Given the description of an element on the screen output the (x, y) to click on. 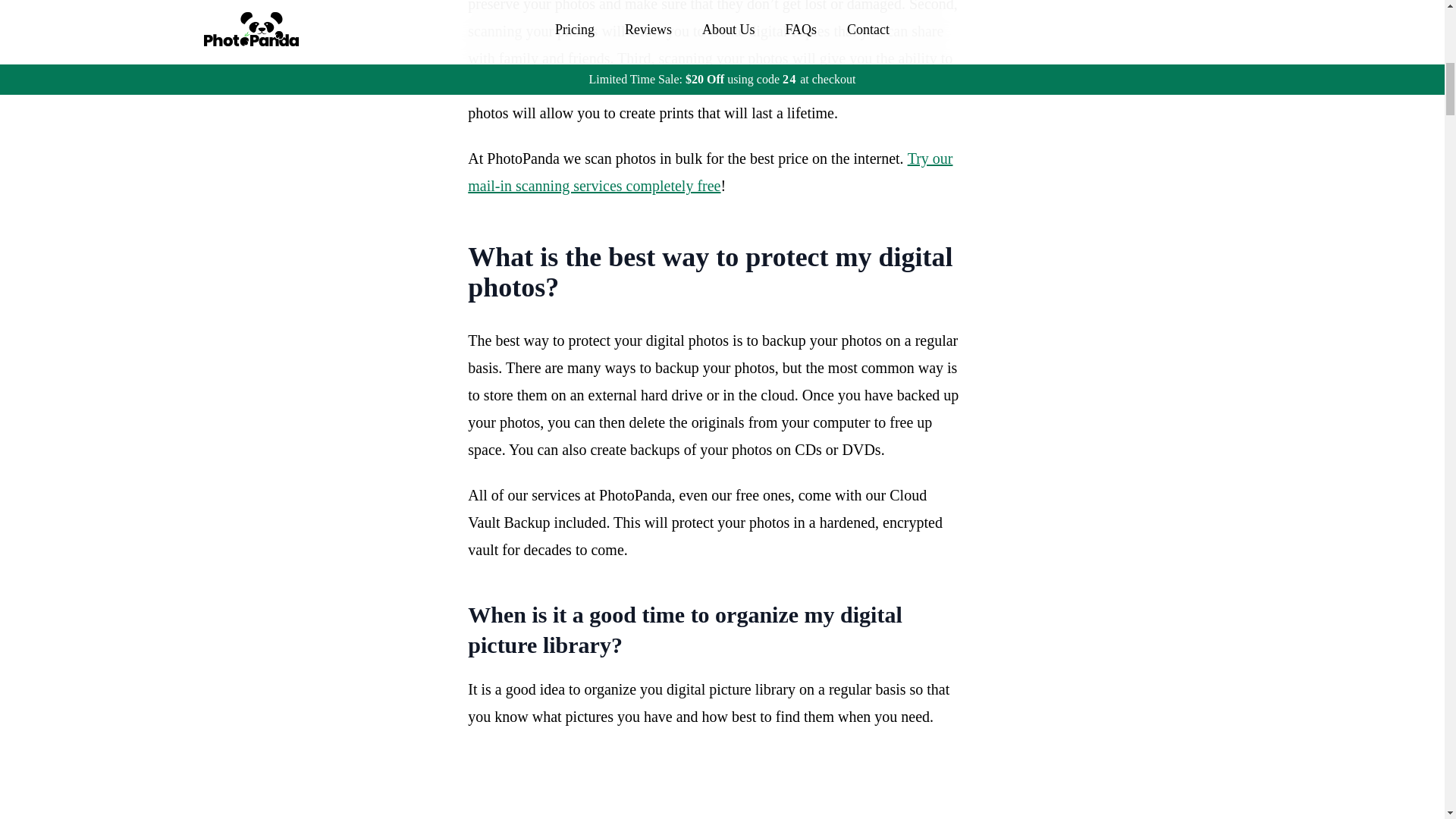
Try our mail-in scanning services completely free (709, 171)
